Given the description of an element on the screen output the (x, y) to click on. 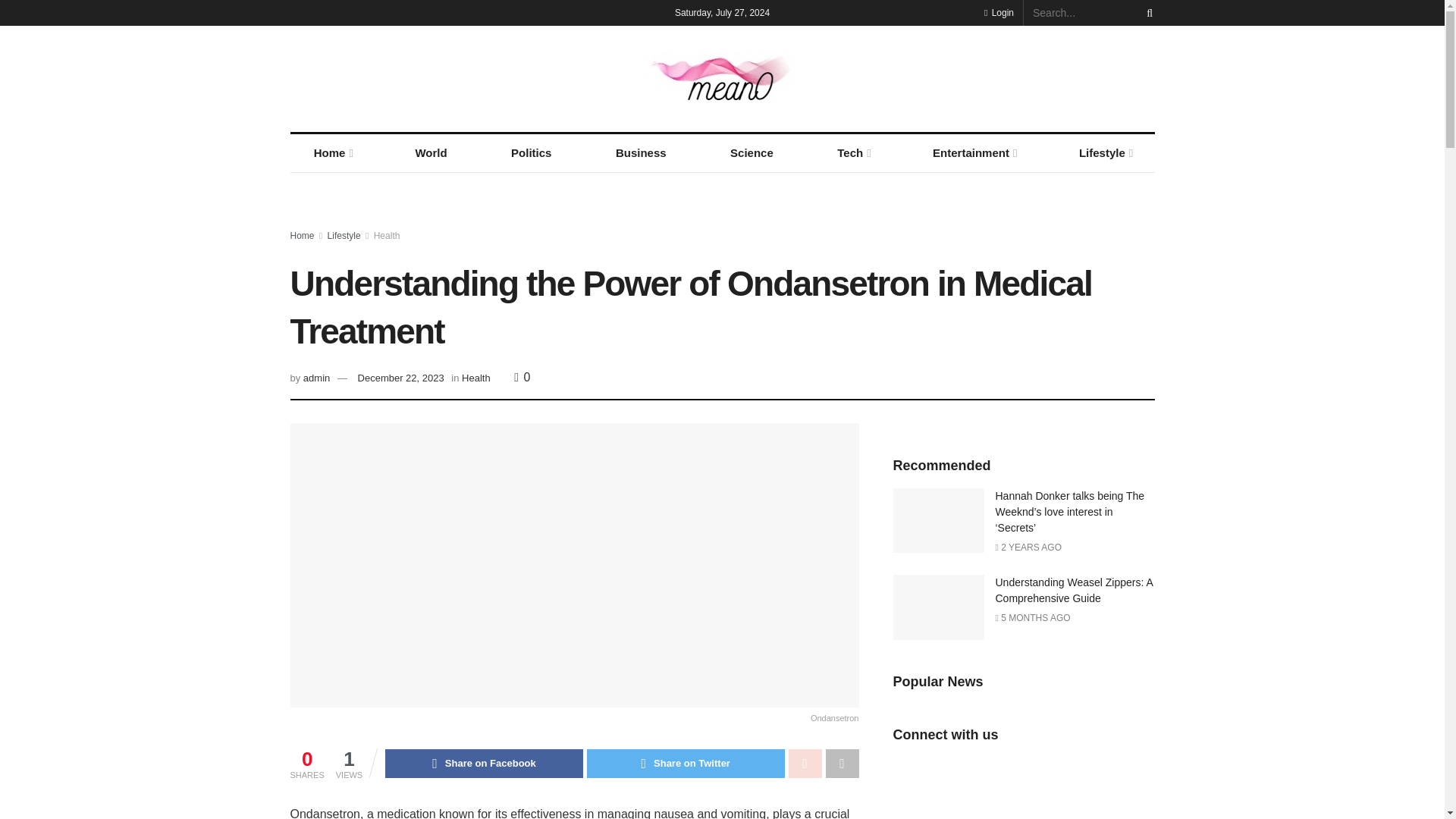
Home (331, 152)
World (430, 152)
Science (751, 152)
Tech (852, 152)
Entertainment (973, 152)
Business (641, 152)
Login (998, 12)
Politics (531, 152)
